Given the description of an element on the screen output the (x, y) to click on. 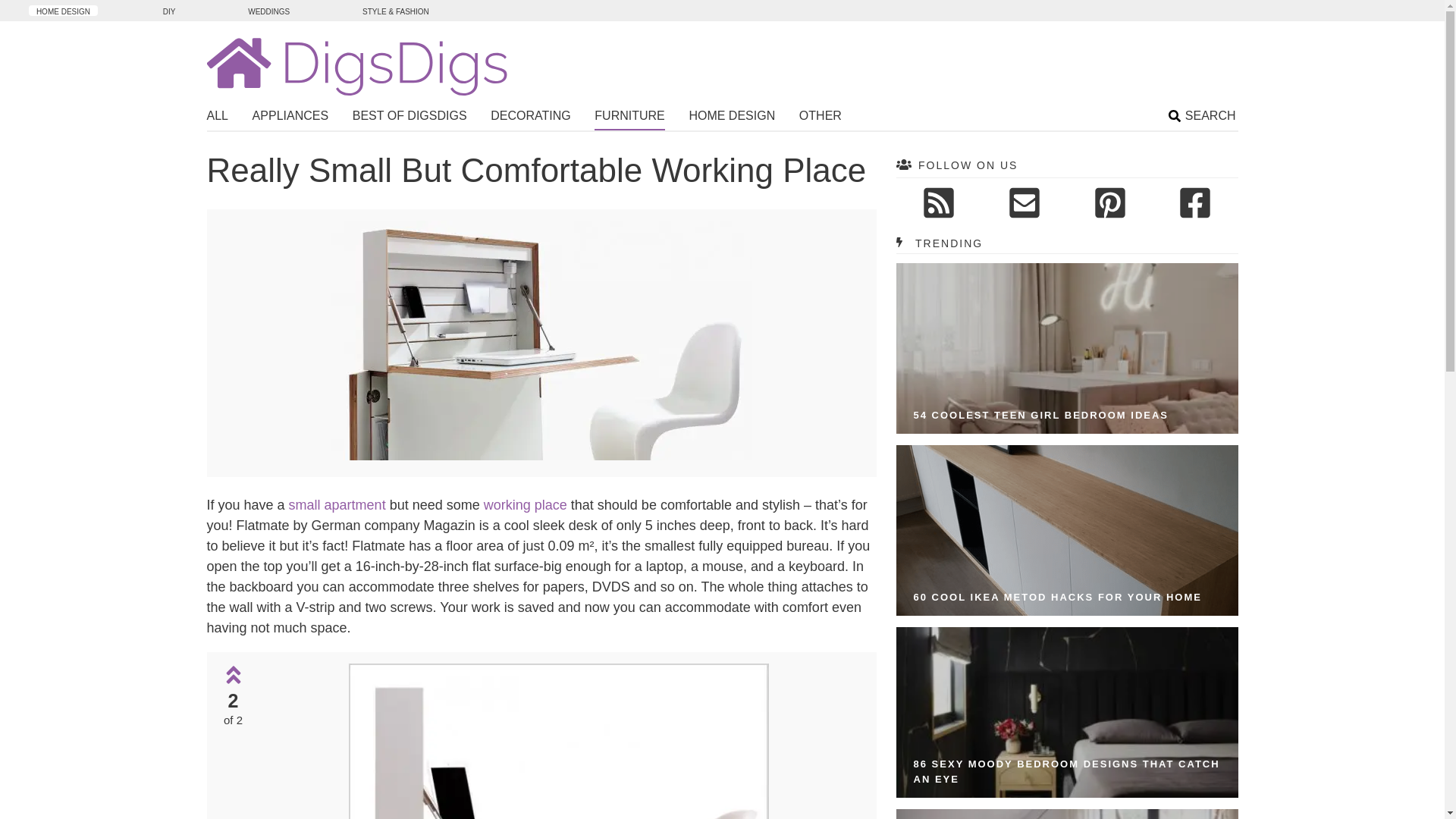
Smallest But Comfortable Working Space (541, 455)
54 Coolest Teen Girl Bedroom Ideas (1041, 415)
DECORATING (530, 117)
Wedding Ideas and Inspirations (268, 9)
Smallest But Comfortable Working Space (541, 340)
OTHER (820, 117)
APPLIANCES (290, 117)
working place (526, 504)
BEST OF DIGSDIGS (409, 117)
60 Cool IKEA Metod Hacks For Your Home (1066, 530)
DIY (169, 9)
small apartment (336, 504)
HOME DESIGN (731, 117)
43 Small Yet Awesome Teen Bedrooms (1066, 814)
FURNITURE (628, 118)
